Given the description of an element on the screen output the (x, y) to click on. 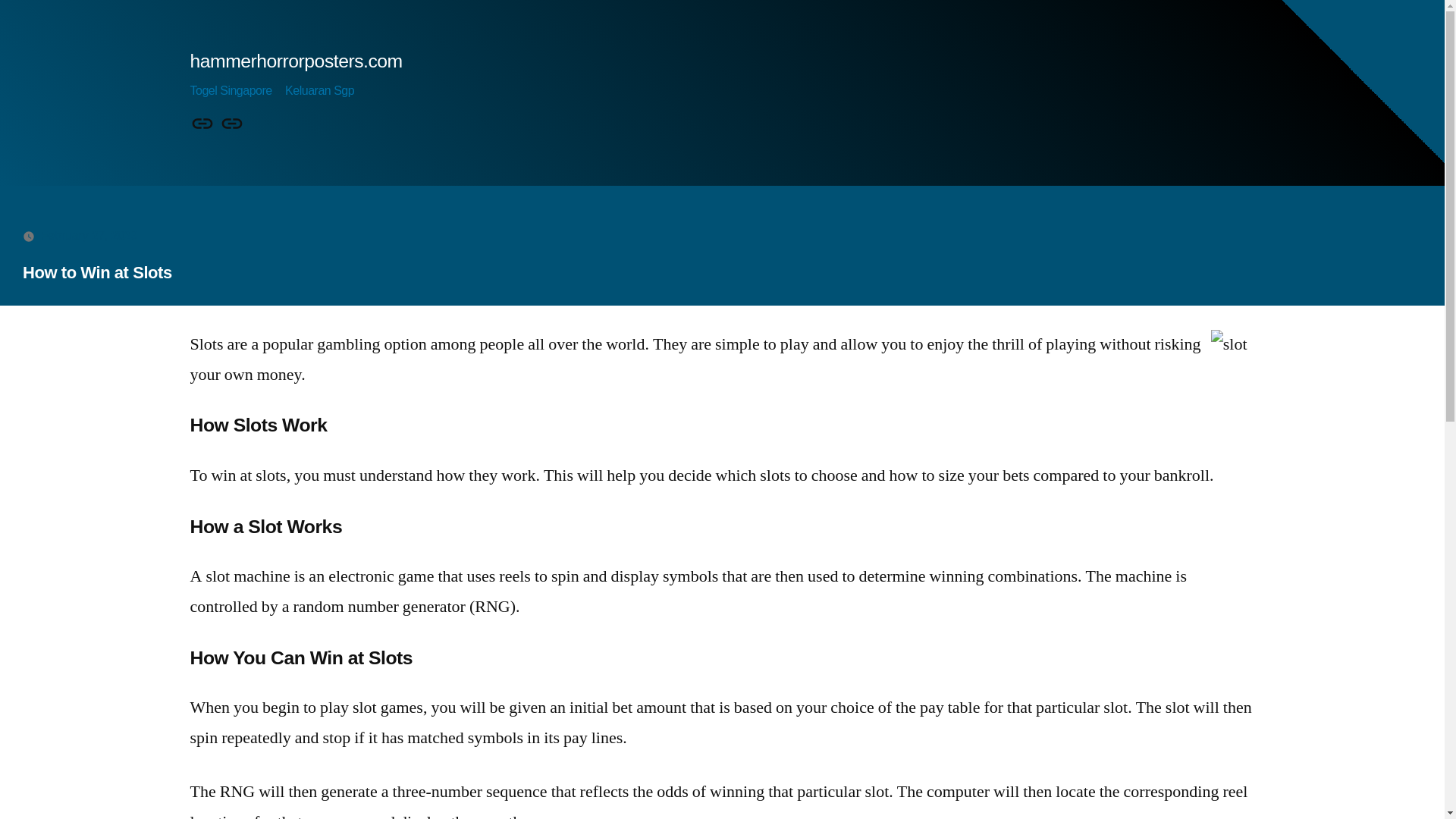
hammerhorrorposters.com (295, 60)
Keluaran Sgp (319, 90)
Togel Singapore (229, 90)
February 27, 2023 (89, 235)
Keluaran Sgp (231, 123)
Togel Singapore (201, 123)
